Given the description of an element on the screen output the (x, y) to click on. 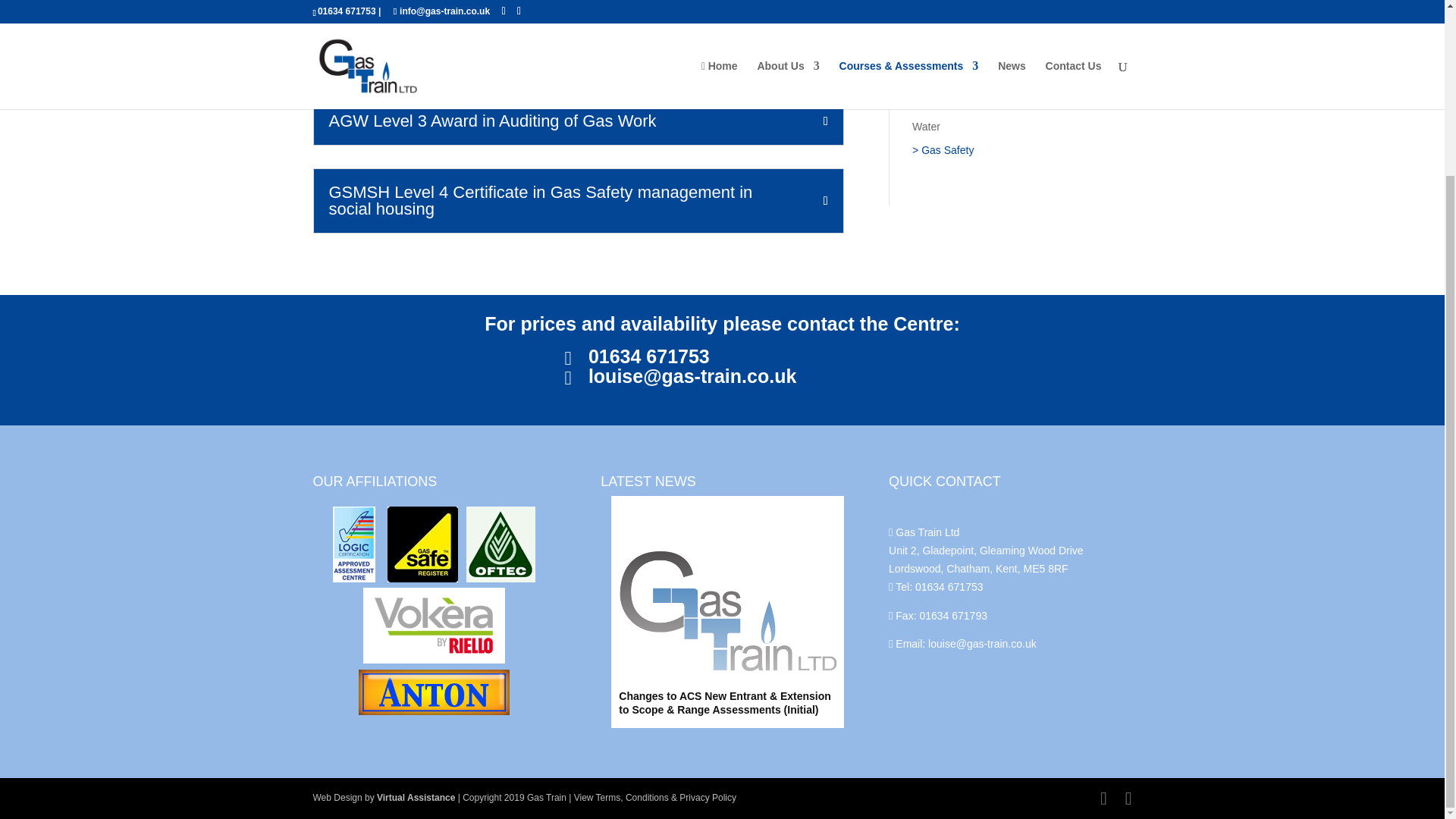
Domestic ACS Re-assessment (984, 9)
Core Commercial (953, 33)
Commercial Changeover (970, 55)
